Given the description of an element on the screen output the (x, y) to click on. 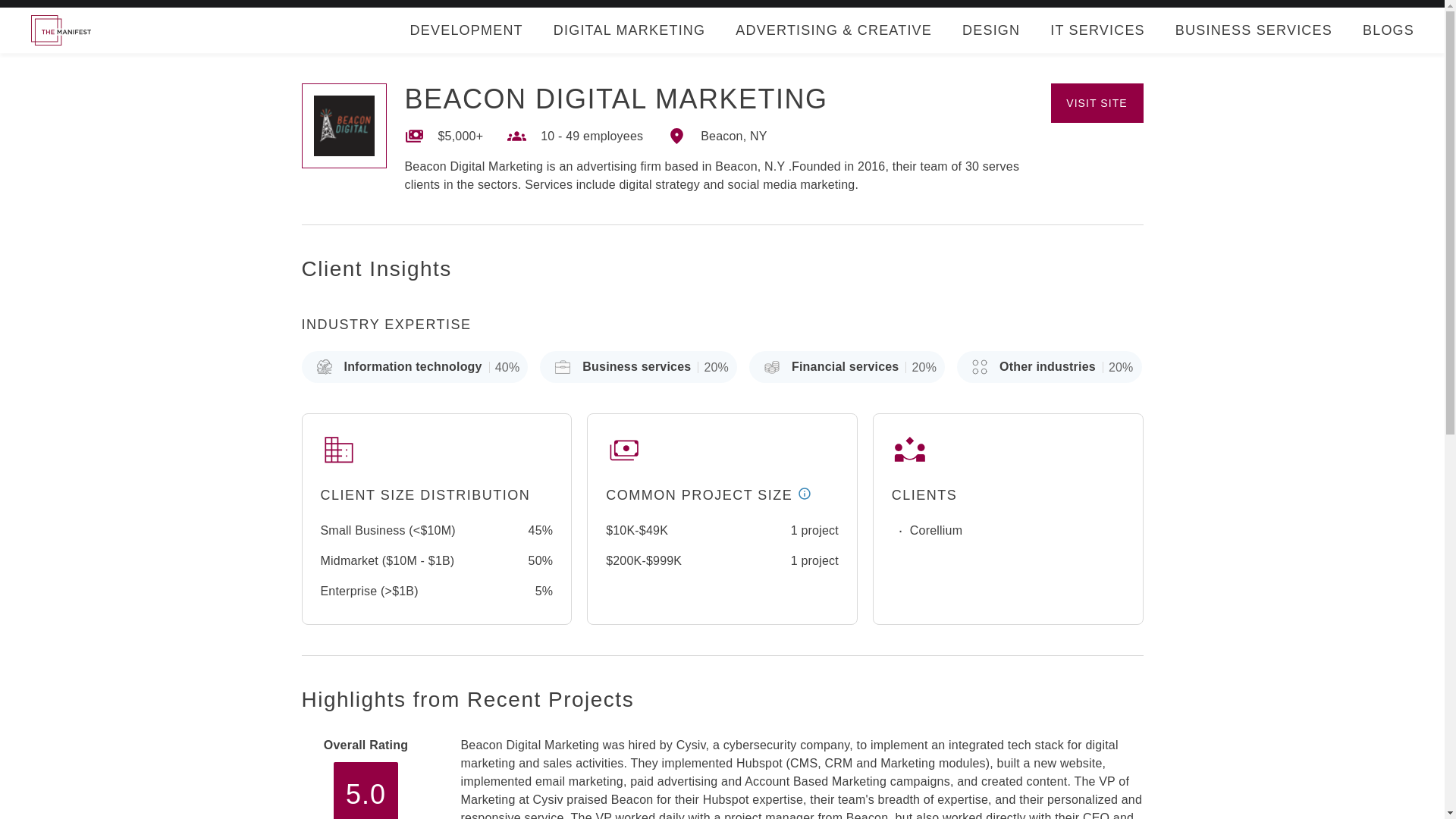
Provider Logotype (344, 125)
Visit Beacon Digital Marketing website (1096, 102)
Provider Title (616, 98)
